Given the description of an element on the screen output the (x, y) to click on. 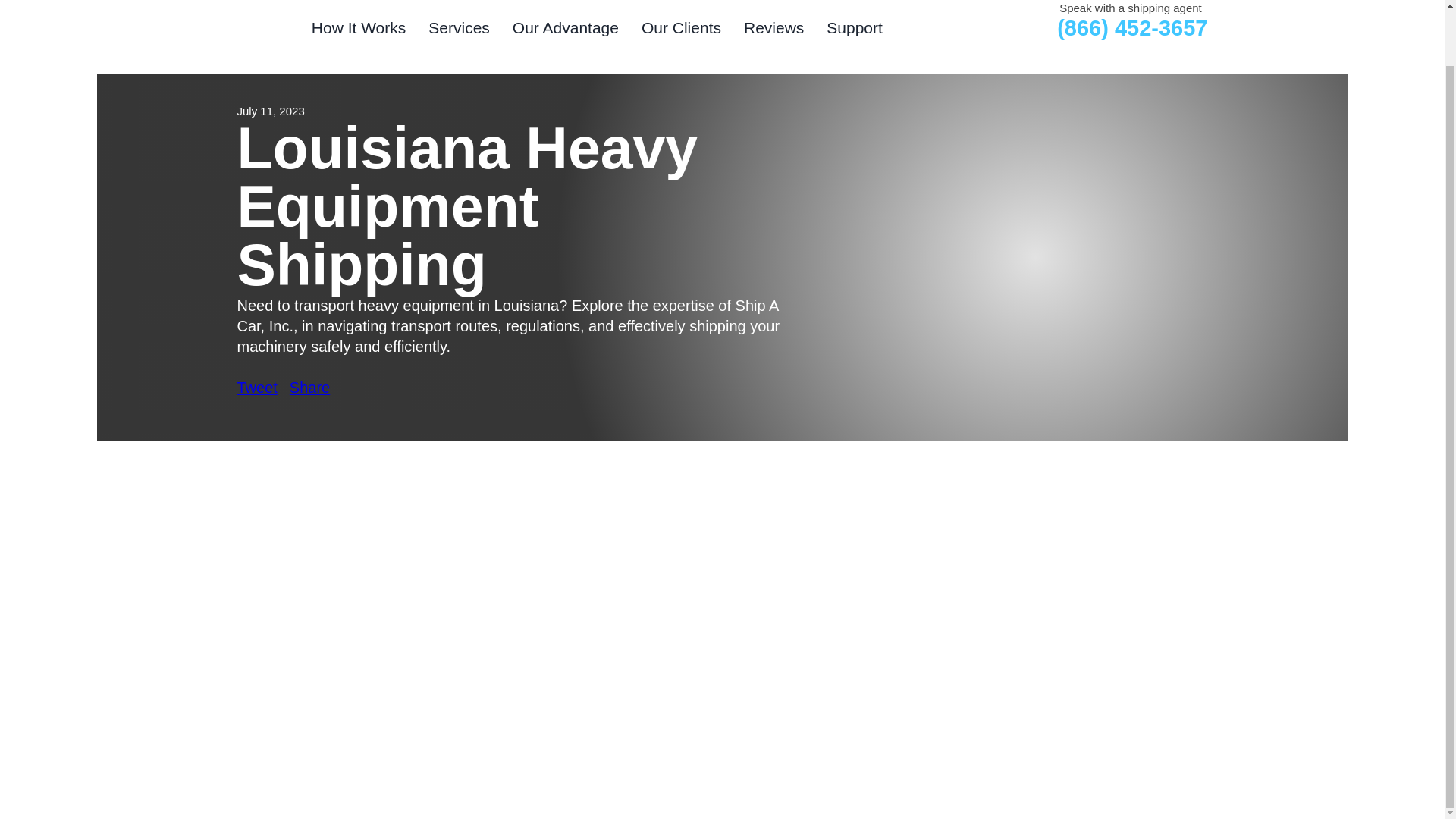
How It Works (358, 31)
How It Works (358, 31)
Services (458, 31)
Ship A Car, Inc. (260, 26)
Services (458, 31)
